Given the description of an element on the screen output the (x, y) to click on. 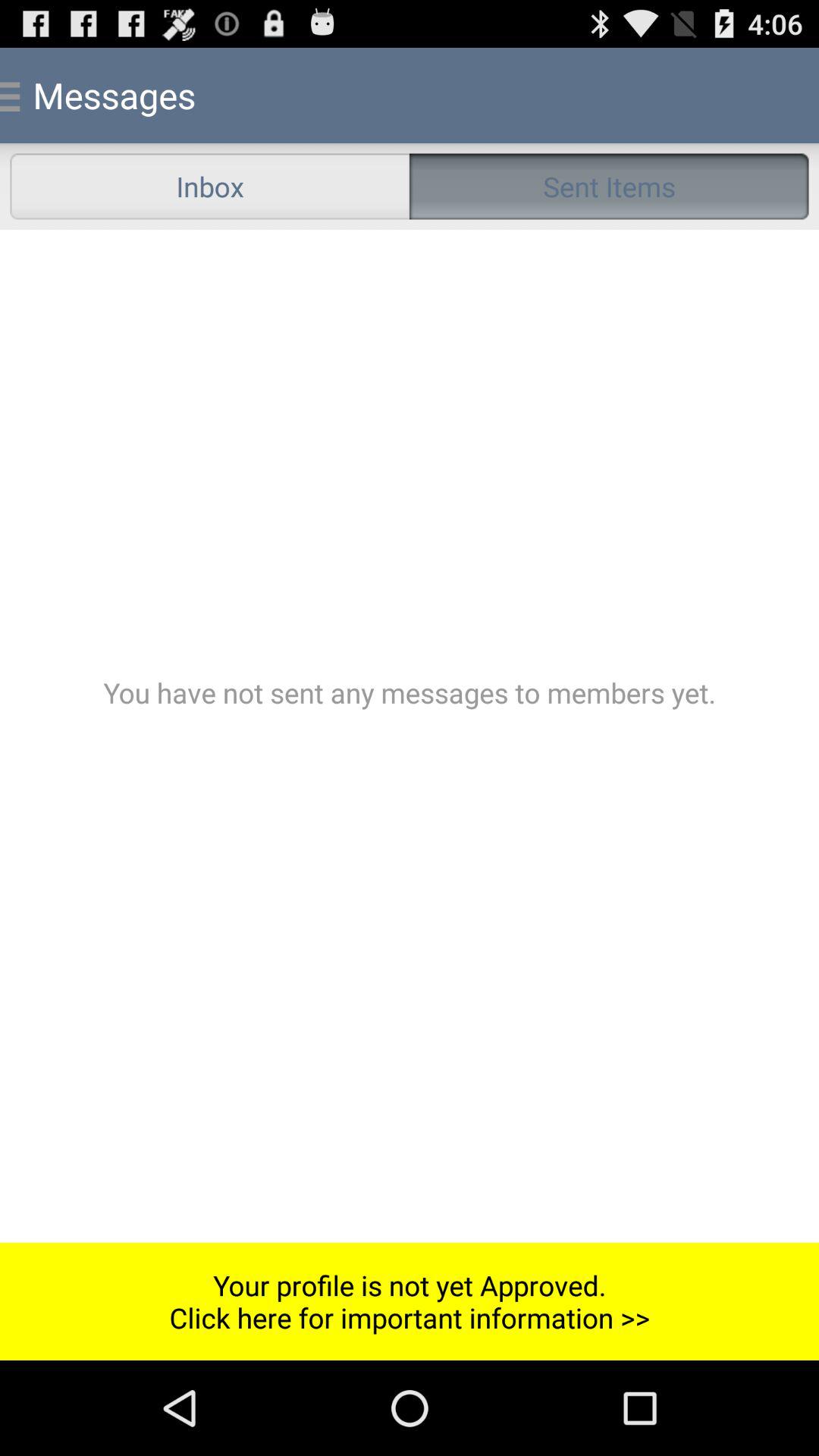
flip until the sent items icon (608, 186)
